Given the description of an element on the screen output the (x, y) to click on. 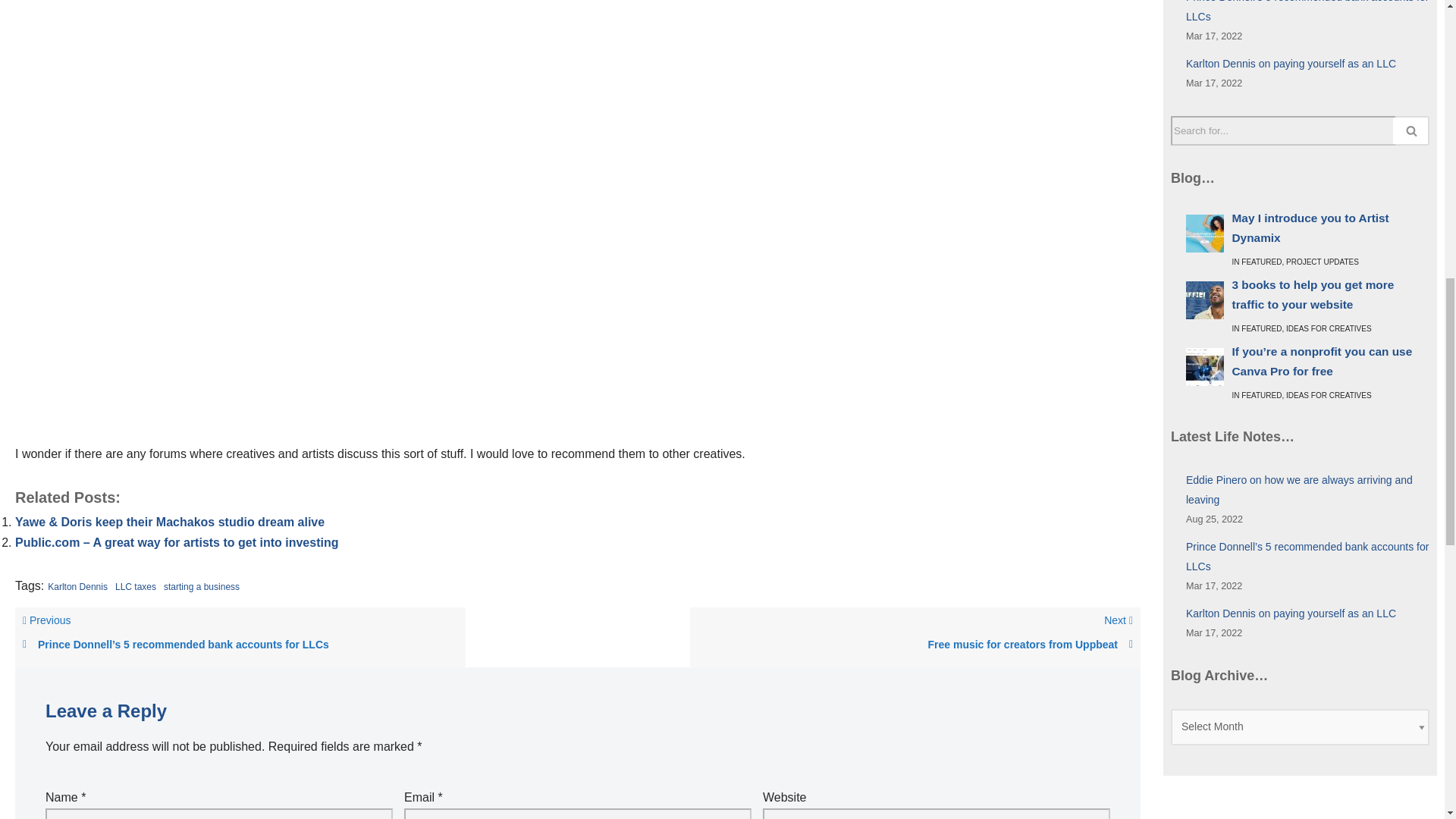
Free music for creators from Uppbeat (914, 644)
